Given the description of an element on the screen output the (x, y) to click on. 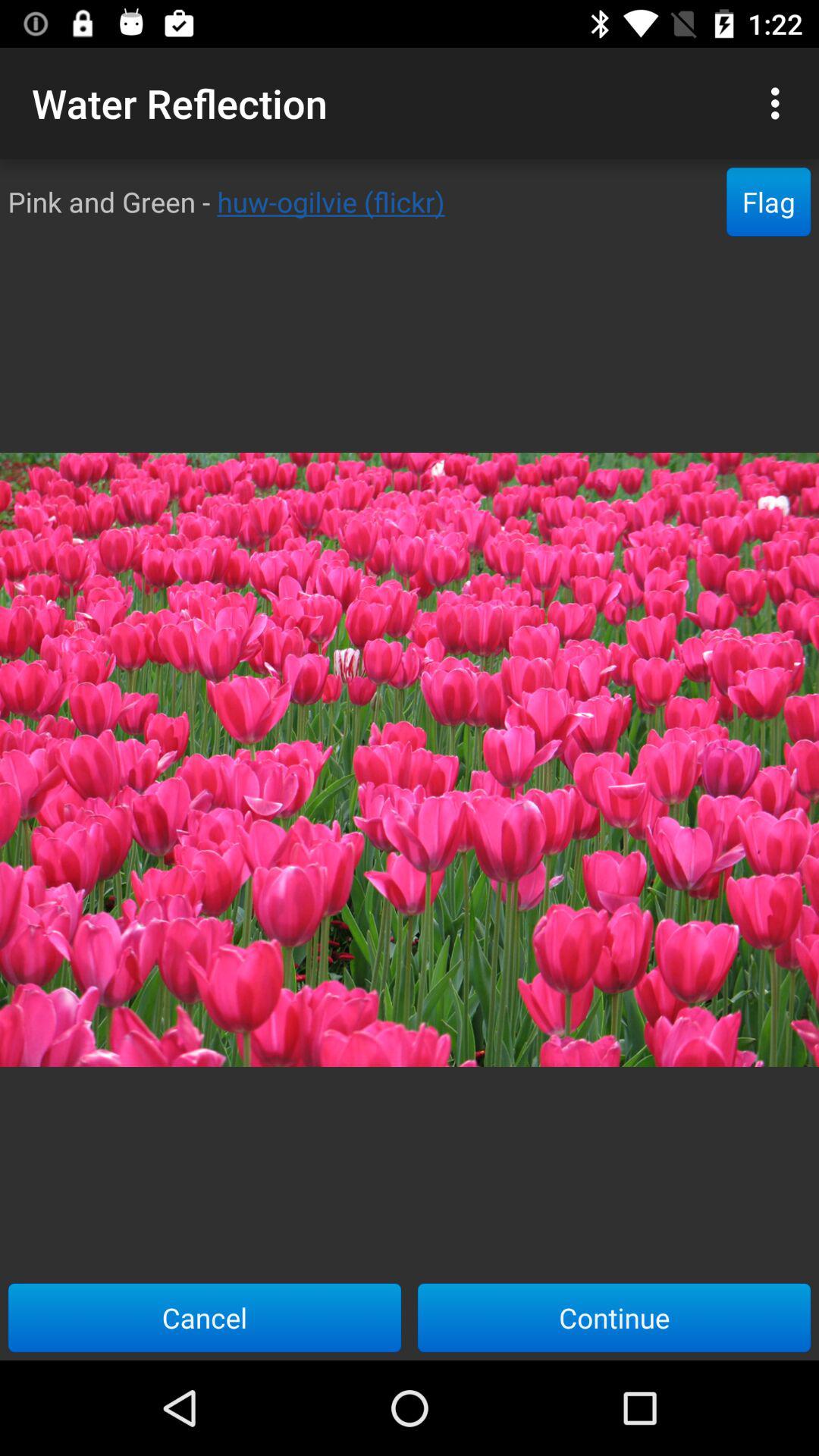
launch icon next to water reflection app (779, 103)
